Given the description of an element on the screen output the (x, y) to click on. 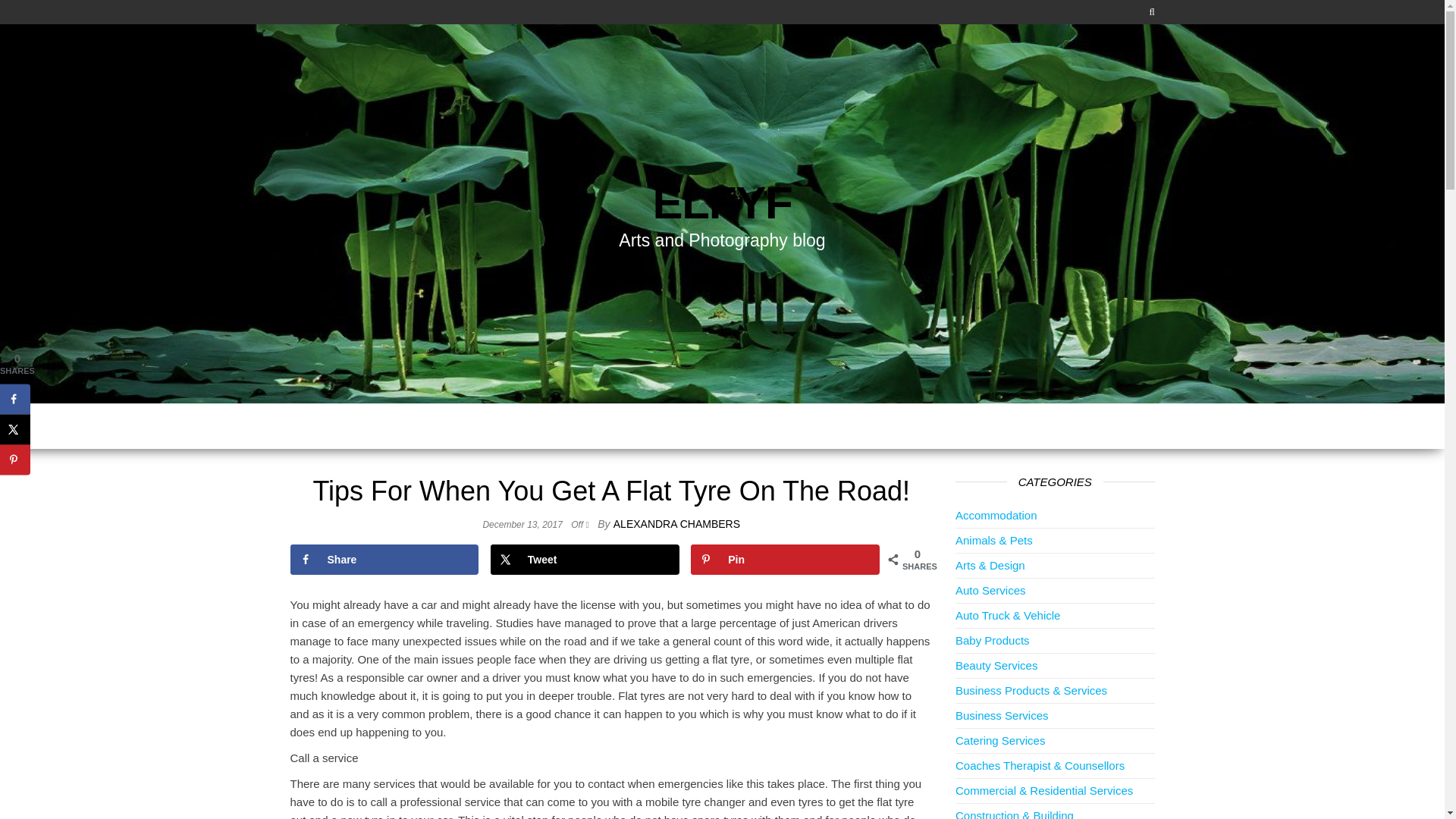
ALEXANDRA CHAMBERS (675, 523)
Catering Services (1000, 739)
Business Services (1001, 715)
Save to Pinterest (784, 559)
Share on Facebook (15, 399)
Pin (784, 559)
Accommodation (995, 514)
Share on X (584, 559)
Auto Services (990, 590)
Tweet (584, 559)
